Given the description of an element on the screen output the (x, y) to click on. 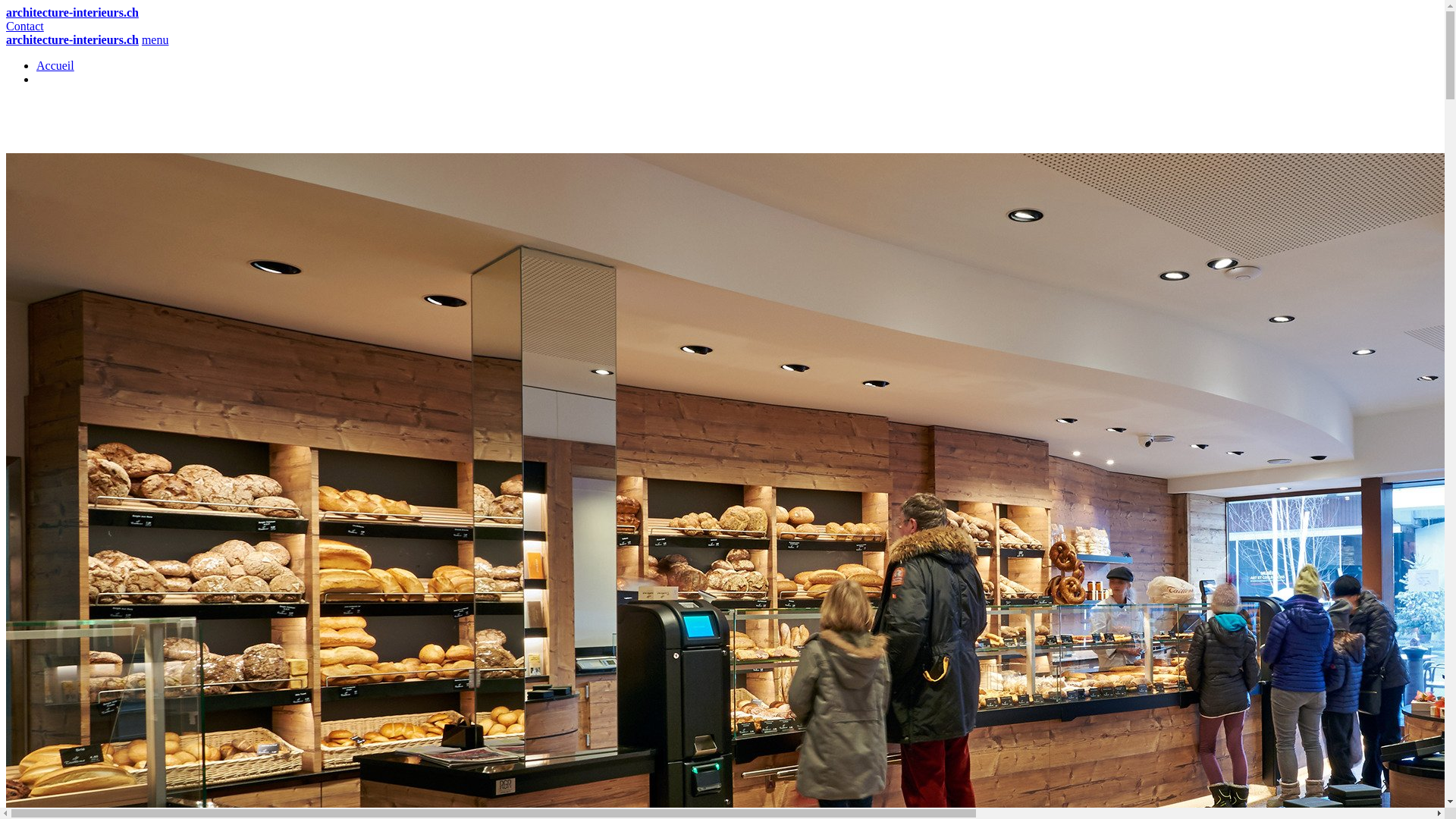
menu Element type: text (155, 39)
Accueil Element type: text (55, 65)
architecture-interieurs.ch Element type: text (72, 39)
Contact Element type: text (24, 25)
architecture-interieurs.ch Element type: text (72, 12)
